Given the description of an element on the screen output the (x, y) to click on. 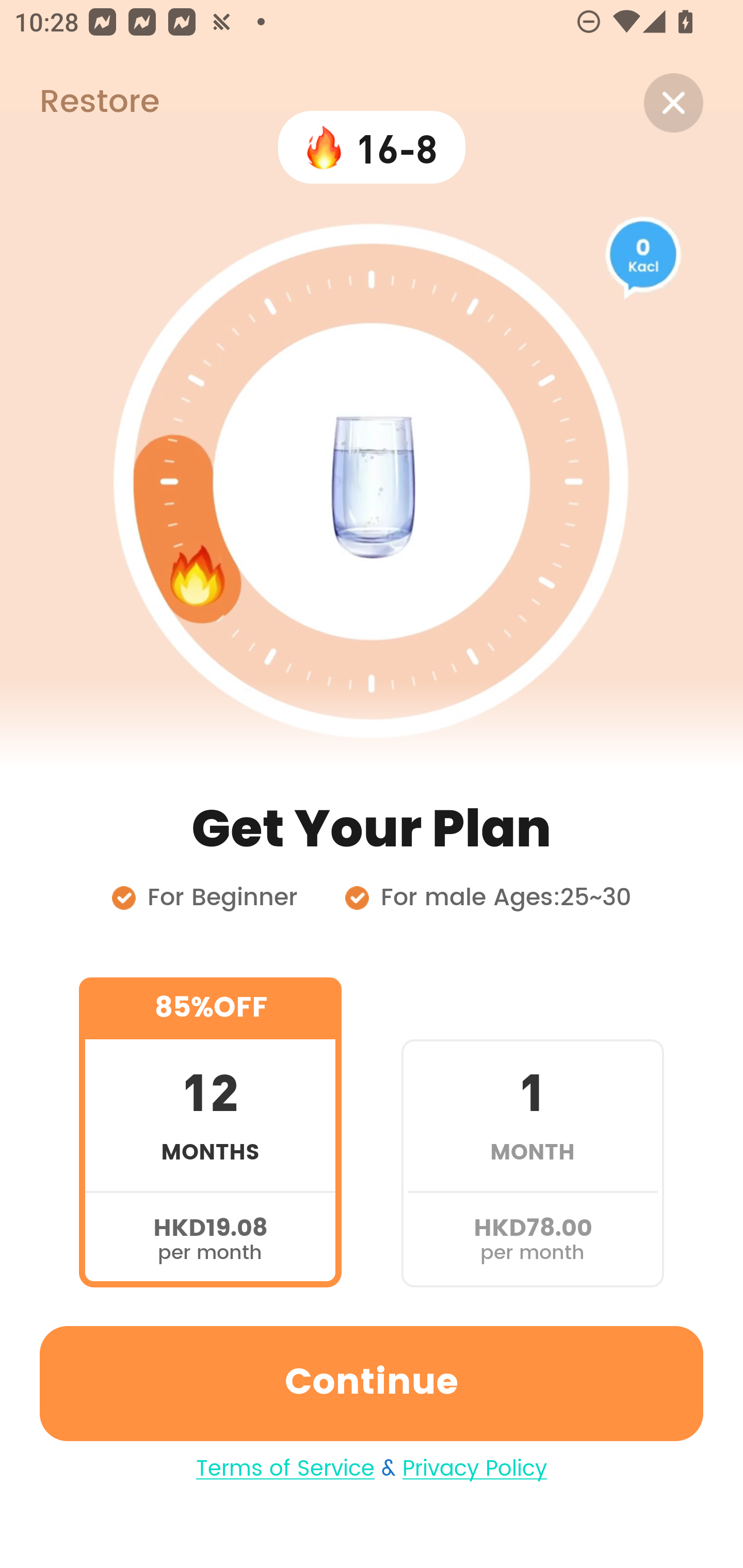
Restore (79, 102)
85%OFF 12 MONTHS per month HKD19.08 (209, 1131)
1 MONTH per month HKD78.00 (532, 1131)
Continue (371, 1383)
